Given the description of an element on the screen output the (x, y) to click on. 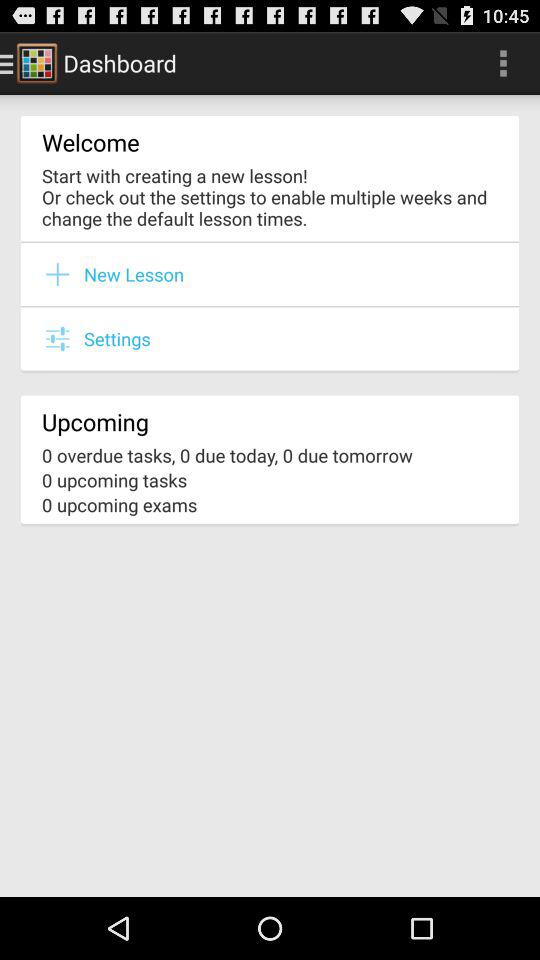
select the start with creating (269, 196)
